Given the description of an element on the screen output the (x, y) to click on. 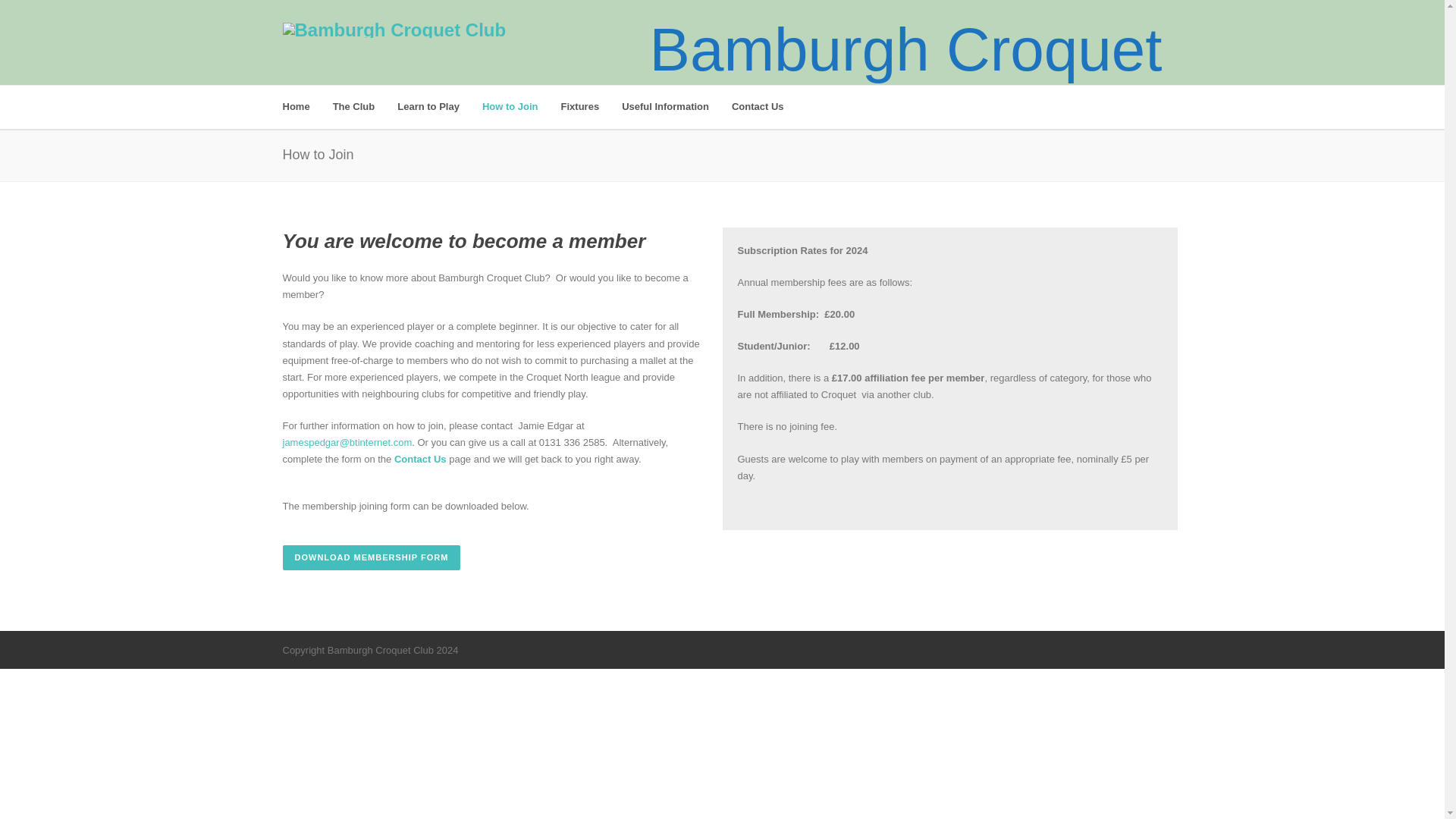
Home (306, 106)
Learn to Play (439, 106)
Fixtures (591, 106)
How to Join (520, 106)
Contact Us (421, 459)
DOWNLOAD MEMBERSHIP FORM (371, 557)
Contact Us (769, 106)
The Club (365, 106)
Useful Information (676, 106)
